Given the description of an element on the screen output the (x, y) to click on. 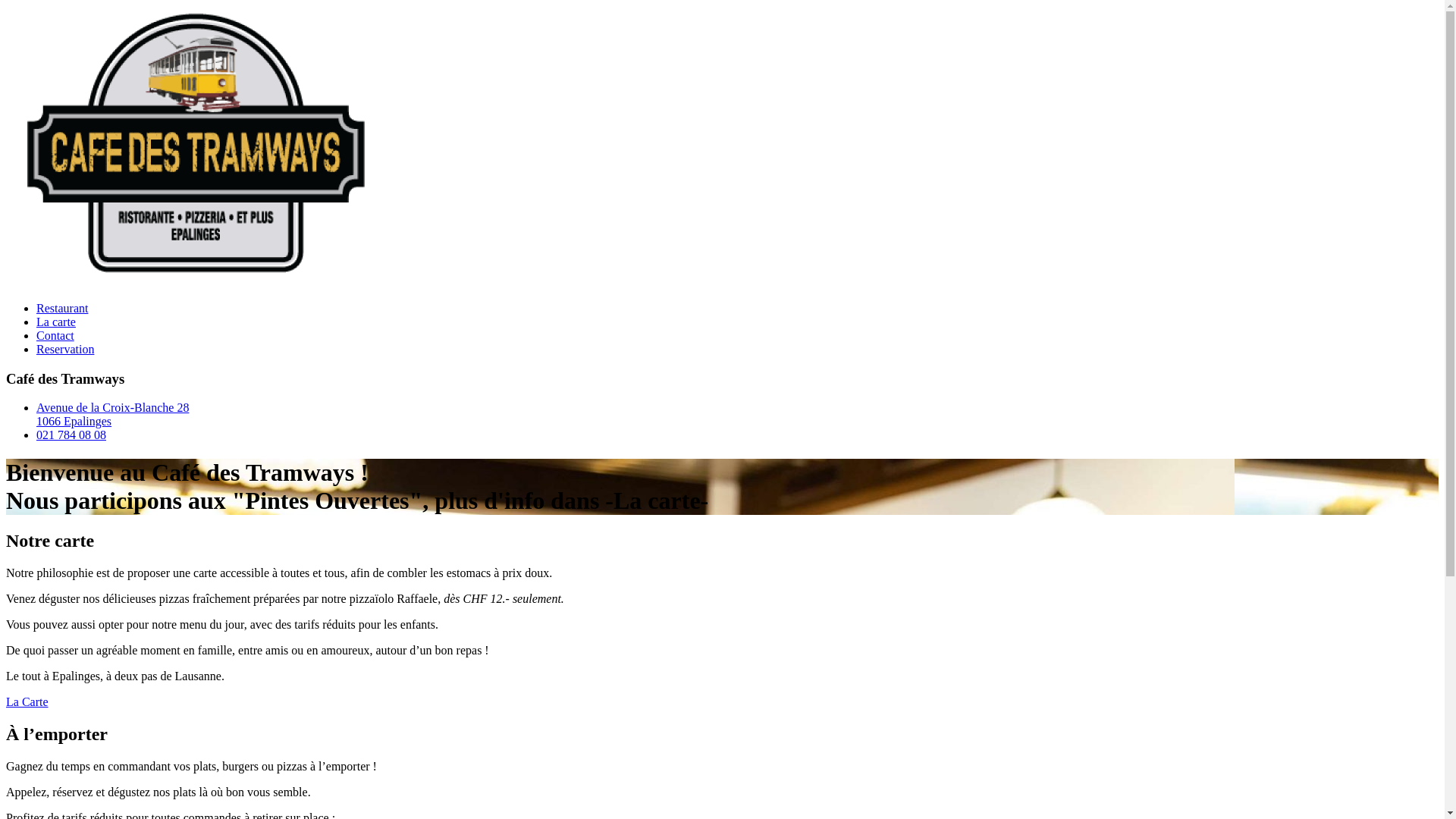
Reservation Element type: text (65, 348)
Contact Element type: text (55, 335)
021 784 08 08 Element type: text (71, 434)
Restaurant Element type: text (61, 307)
Avenue de la Croix-Blanche 28
1066 Epalinges Element type: text (112, 414)
La carte Element type: text (55, 321)
La Carte Element type: text (27, 701)
